Given the description of an element on the screen output the (x, y) to click on. 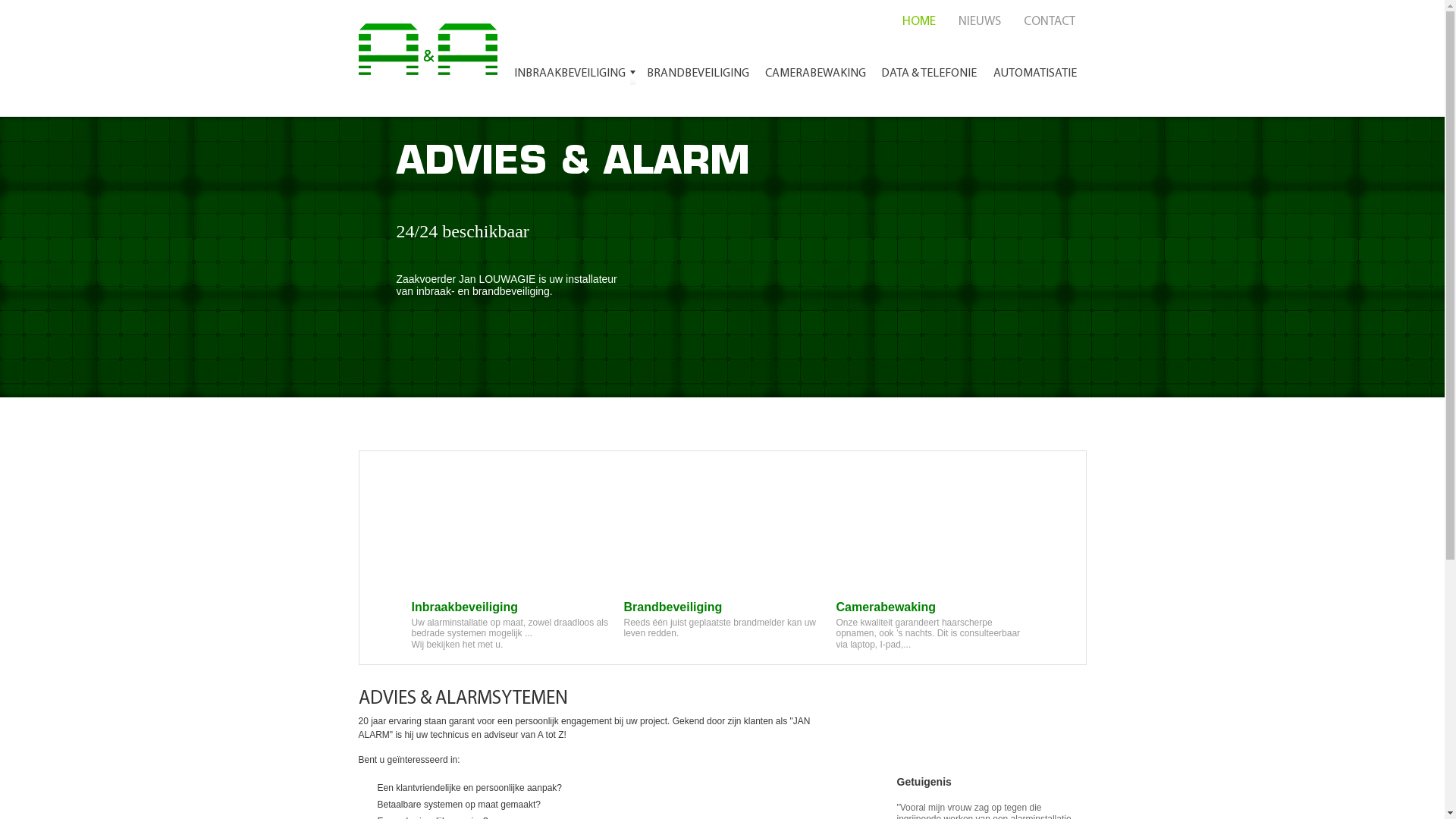
DATA & TELEFONIE Element type: text (928, 75)
Brandbeveiliging Element type: text (721, 563)
Camerabewaking Element type: text (933, 563)
BRANDBEVEILIGING Element type: text (697, 75)
HOME Element type: text (918, 21)
Inbraakbeveiliging Element type: text (509, 563)
Meer Informatie Element type: text (473, 361)
CAMERABEWAKING Element type: text (815, 75)
Advies en Alarm Element type: text (431, 45)
CONTACT Element type: text (1048, 21)
INBRAAKBEVEILIGING Element type: text (573, 75)
Vraag vrijblijvend advies Element type: text (970, 713)
NIEUWS Element type: text (978, 21)
AUTOMATISATIE Element type: text (1035, 75)
